Given the description of an element on the screen output the (x, y) to click on. 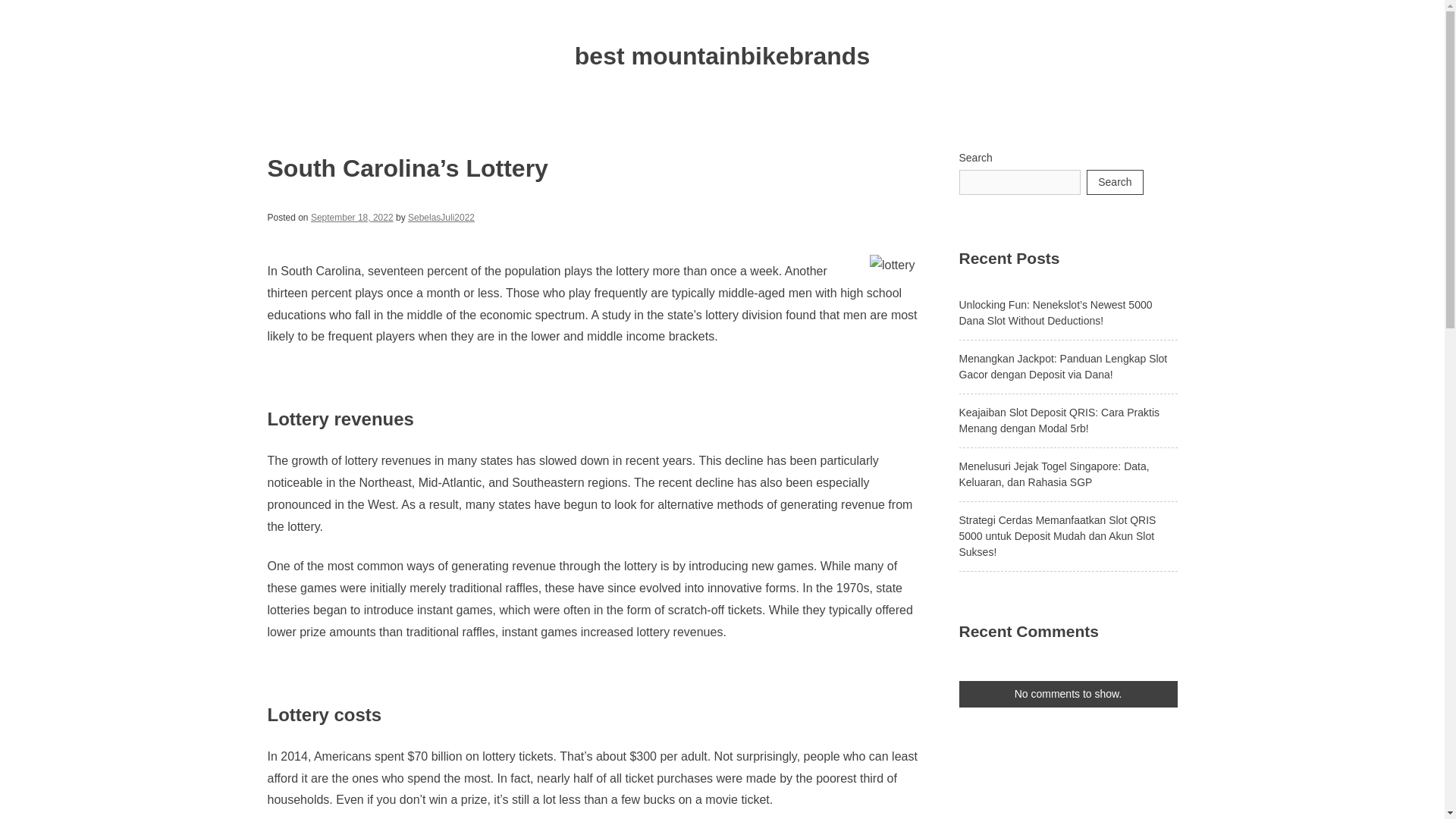
SebelasJuli2022 (440, 217)
September 18, 2022 (352, 217)
Search (1114, 181)
best mountainbikebrands (722, 55)
